Given the description of an element on the screen output the (x, y) to click on. 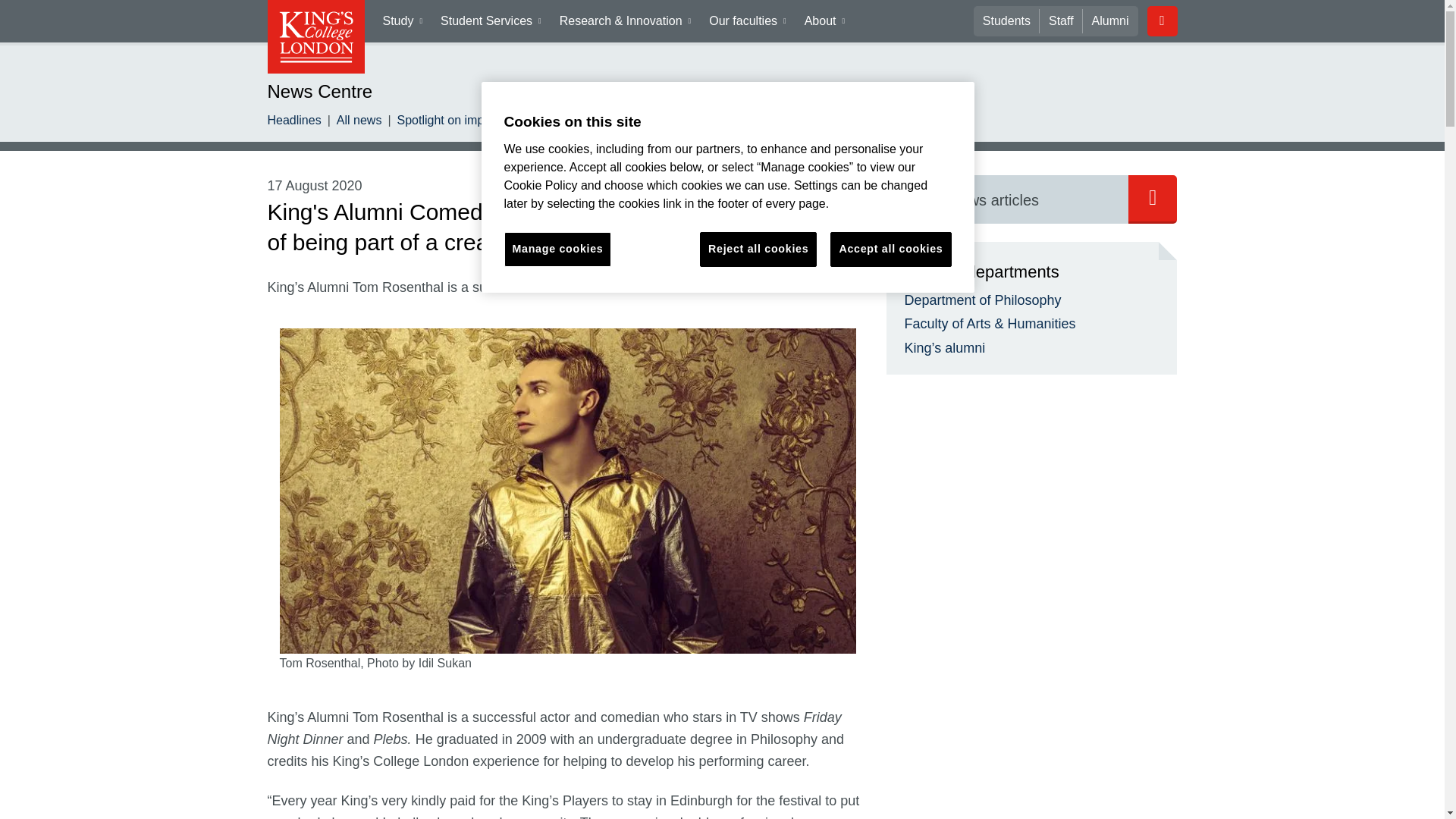
Search (1006, 199)
